Given the description of an element on the screen output the (x, y) to click on. 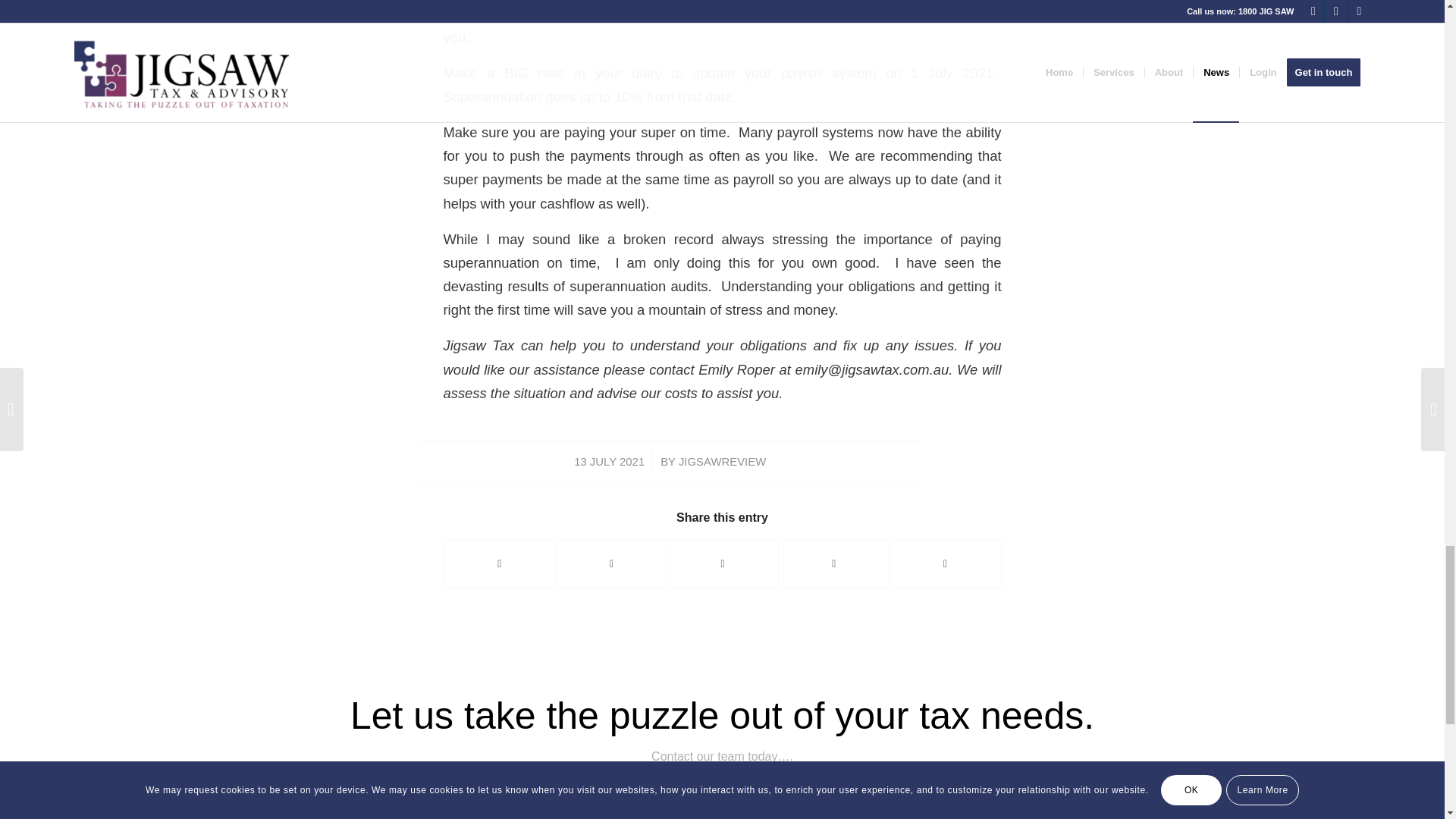
Posts by JigsawReview (721, 461)
Contact Us Today! (721, 810)
JIGSAWREVIEW (721, 461)
